Given the description of an element on the screen output the (x, y) to click on. 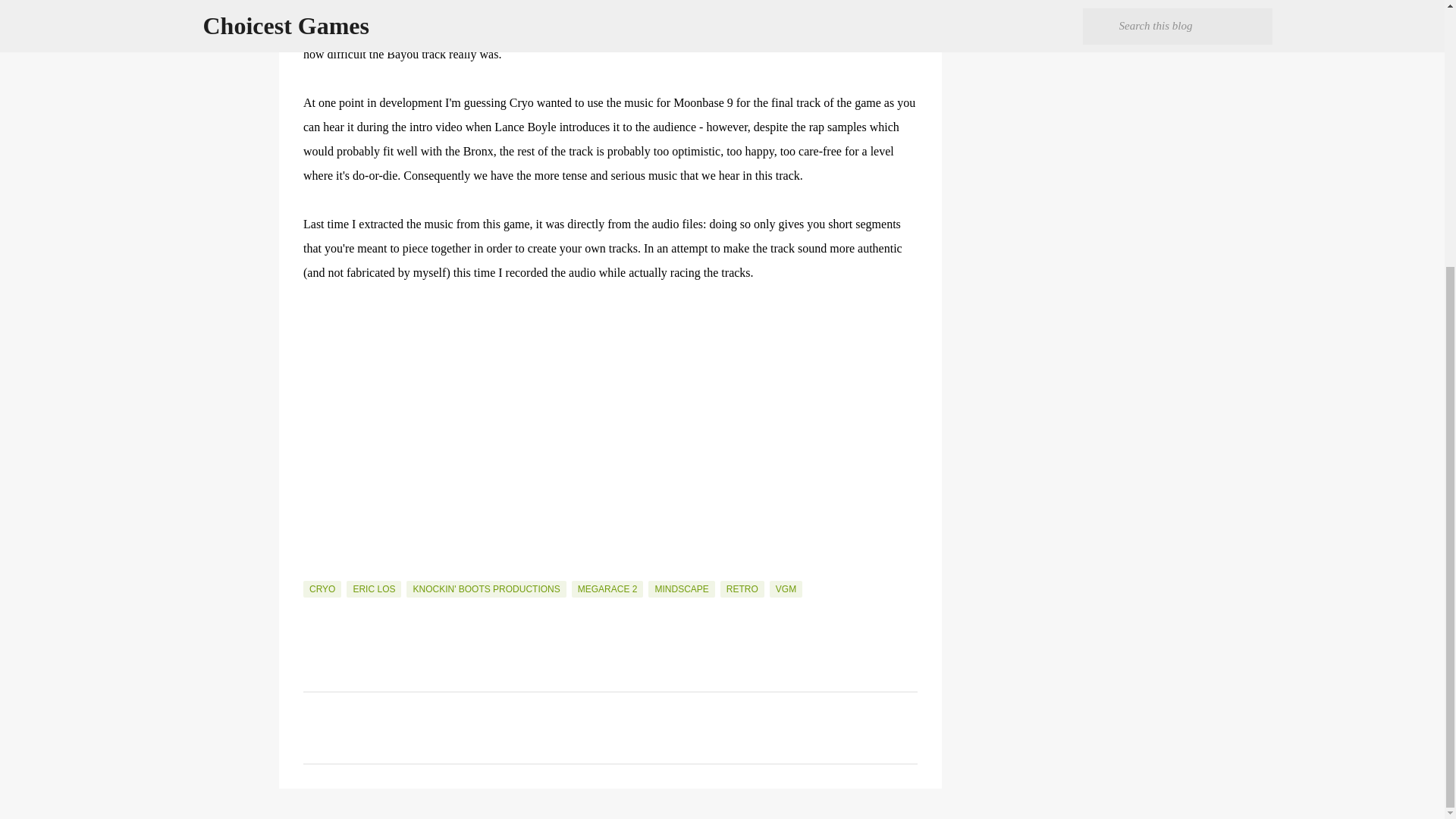
ERIC LOS (373, 588)
MEGARACE 2 (607, 588)
VGM (786, 588)
MINDSCAPE (680, 588)
CRYO (321, 588)
RETRO (742, 588)
KNOCKIN' BOOTS PRODUCTIONS (486, 588)
Email Post (311, 571)
